Given the description of an element on the screen output the (x, y) to click on. 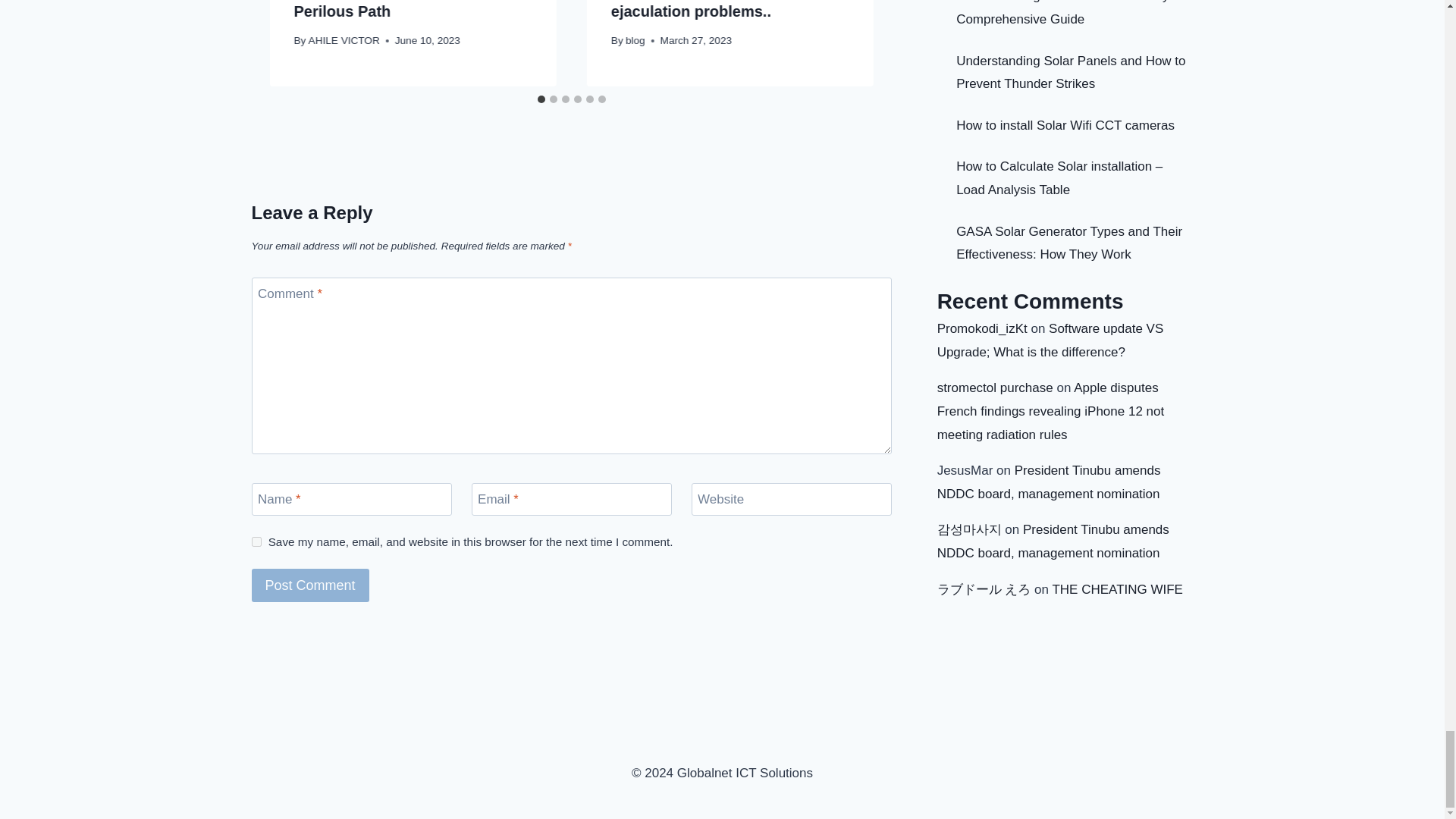
Post Comment (310, 584)
yes (256, 542)
